Given the description of an element on the screen output the (x, y) to click on. 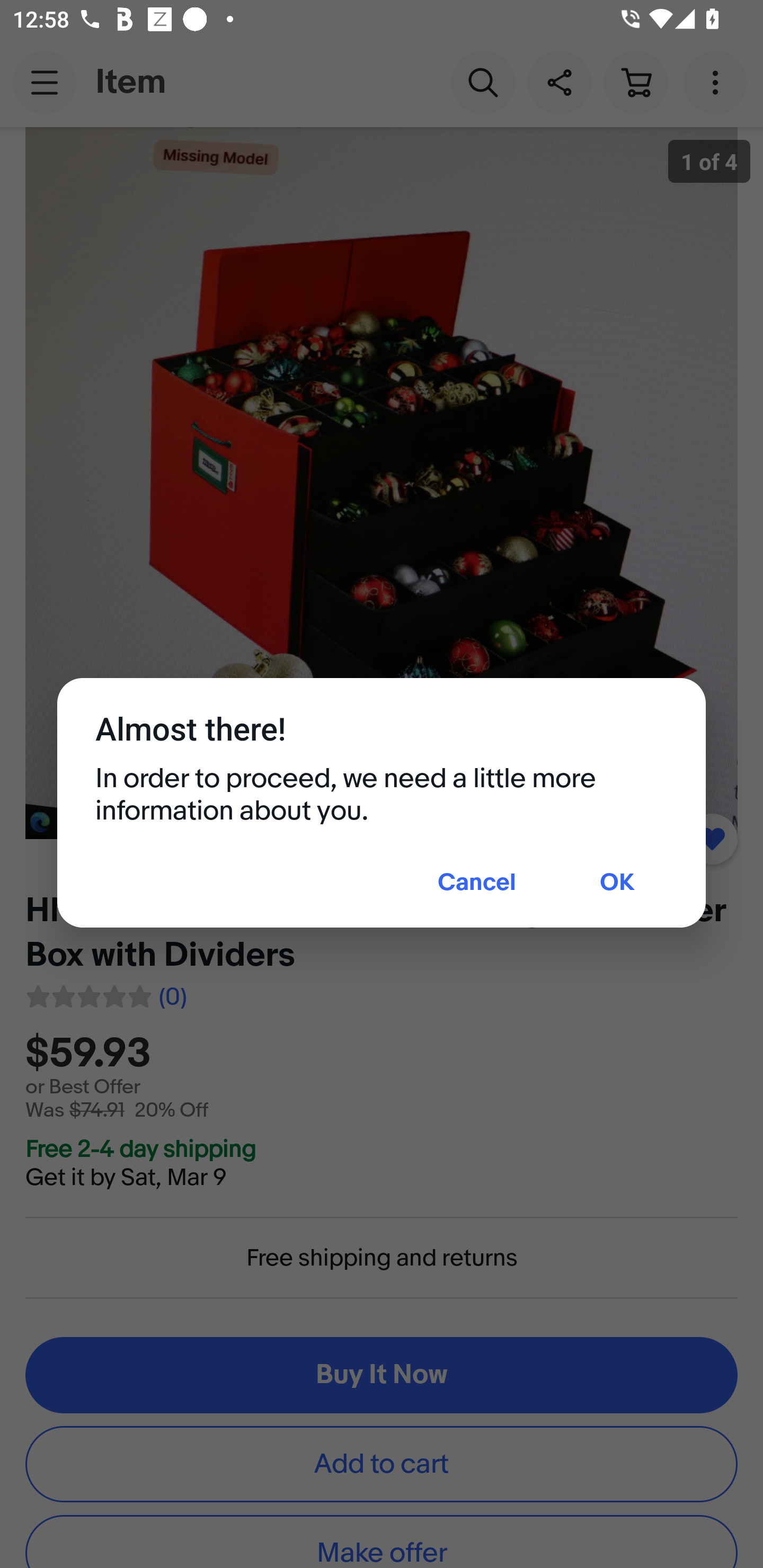
Cancel (476, 883)
OK (616, 883)
